Given the description of an element on the screen output the (x, y) to click on. 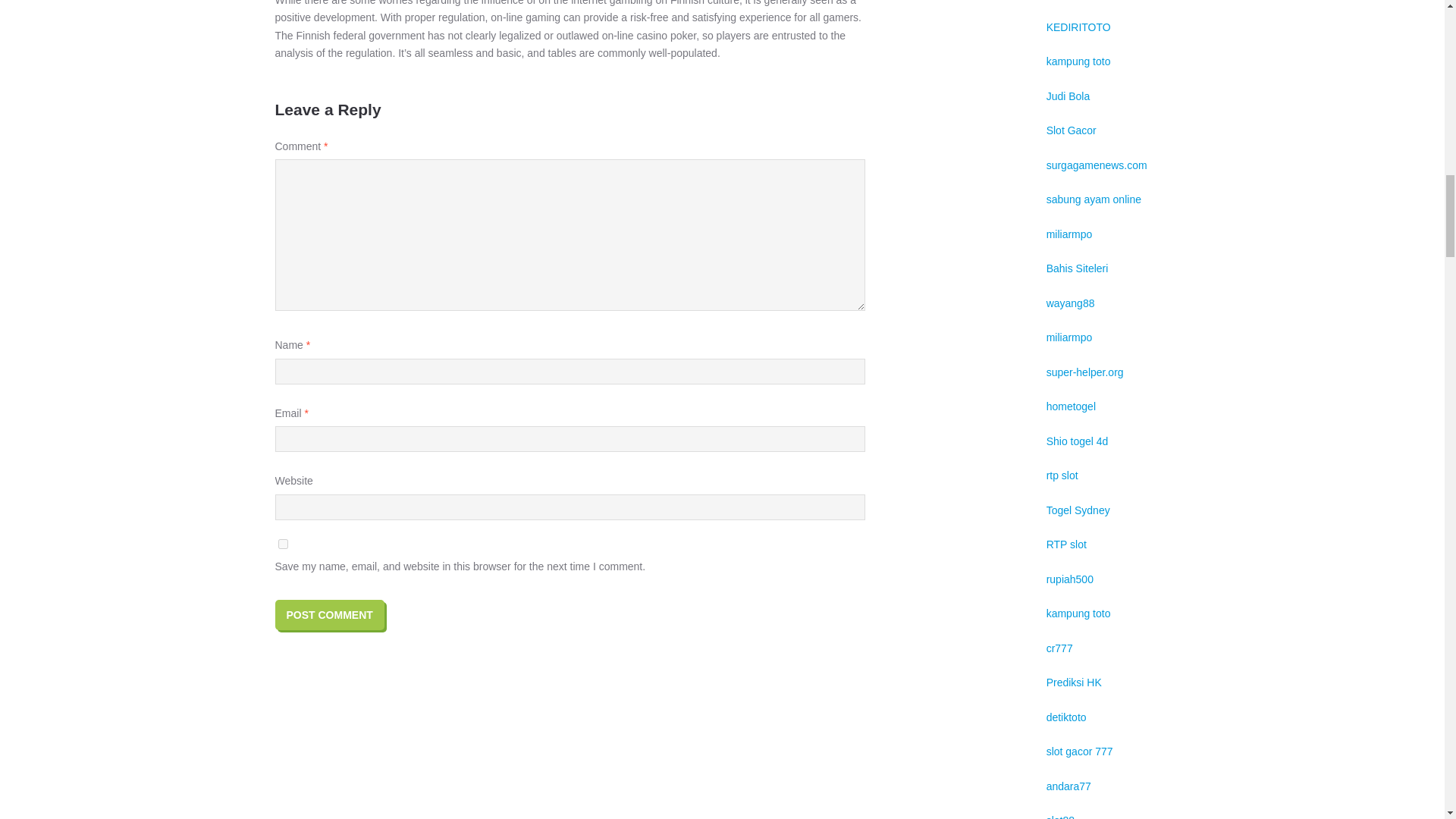
Post Comment (329, 614)
yes (282, 543)
Post Comment (329, 614)
